Given the description of an element on the screen output the (x, y) to click on. 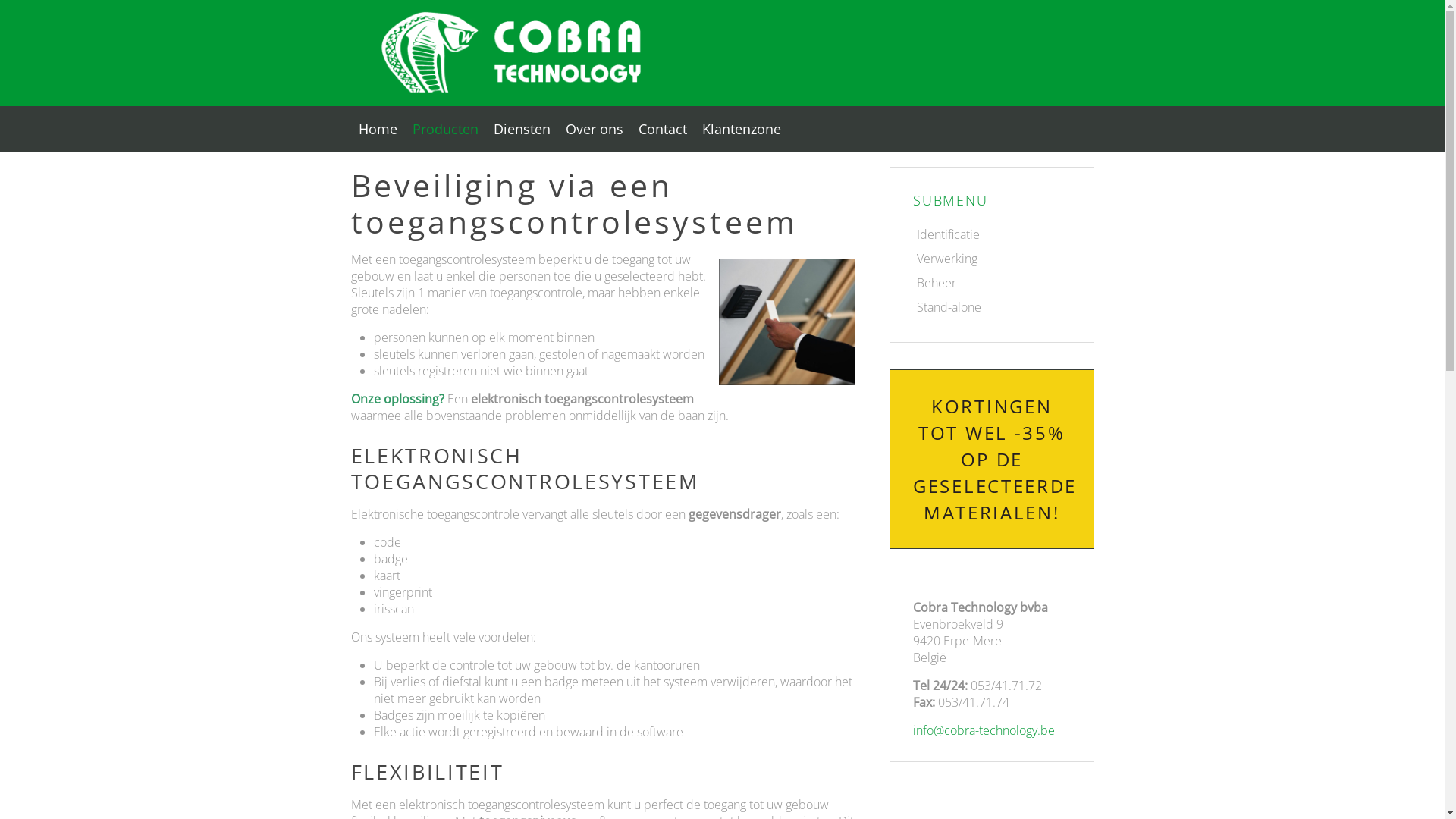
Diensten Element type: text (520, 128)
Klantenzone Element type: text (741, 128)
Tel 24/24: 053/41.71.72
Fax: 053/41.71.74 Element type: text (991, 693)
Verwerking Element type: text (991, 258)
Over ons Element type: text (594, 128)
info@cobra-technology.be Element type: text (983, 729)
Contact Element type: text (662, 128)
Beheer Element type: text (991, 282)
Identificatie Element type: text (991, 234)
Stand-alone Element type: text (991, 306)
Producten Element type: text (445, 128)
Home Element type: text (376, 128)
